Given the description of an element on the screen output the (x, y) to click on. 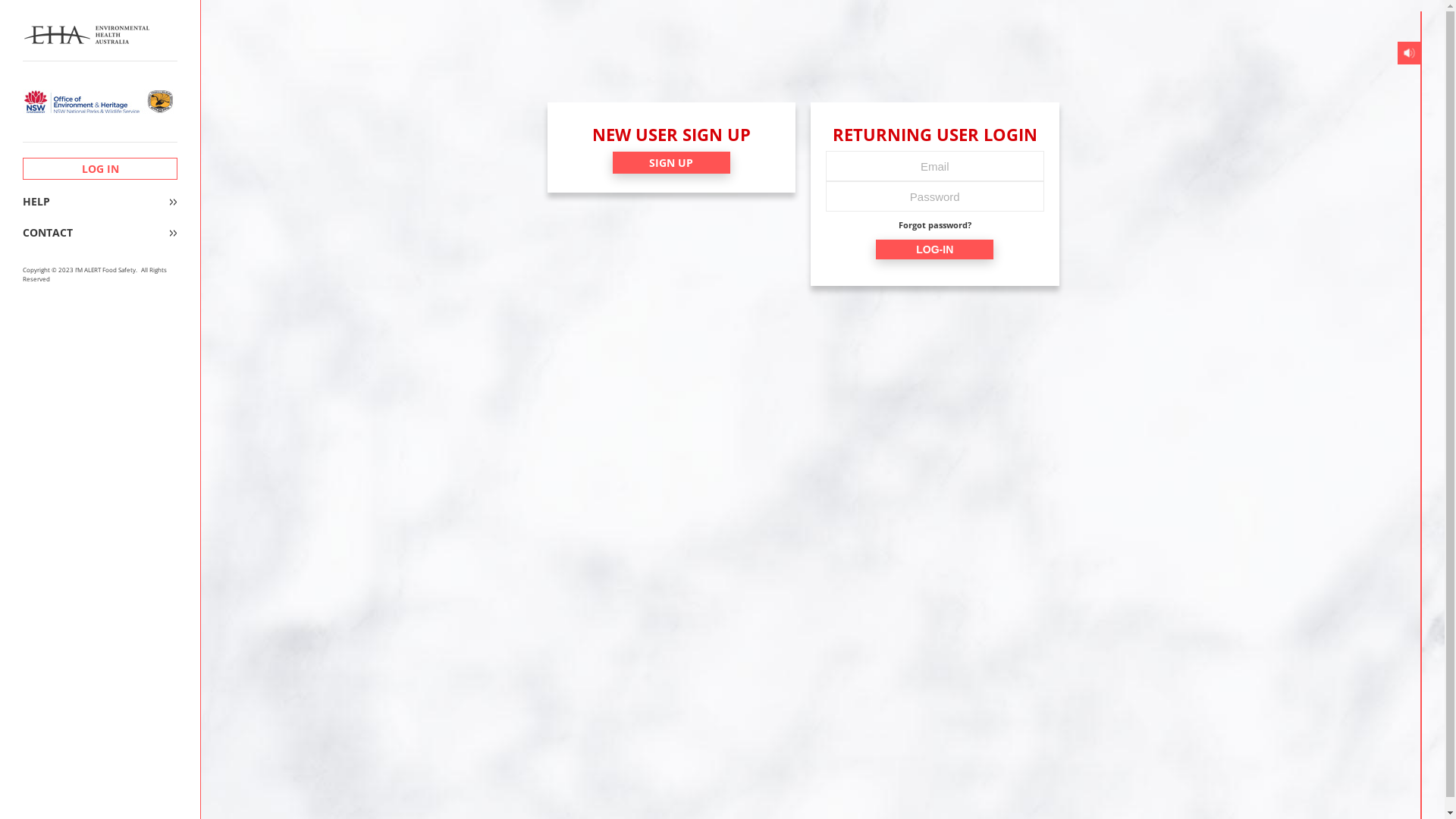
LOG-IN Element type: text (934, 249)
HELP Element type: text (99, 201)
LOG IN Element type: text (99, 168)
SIGN UP Element type: text (671, 162)
Forgot password? Element type: text (934, 225)
CONTACT Element type: text (99, 232)
